Given the description of an element on the screen output the (x, y) to click on. 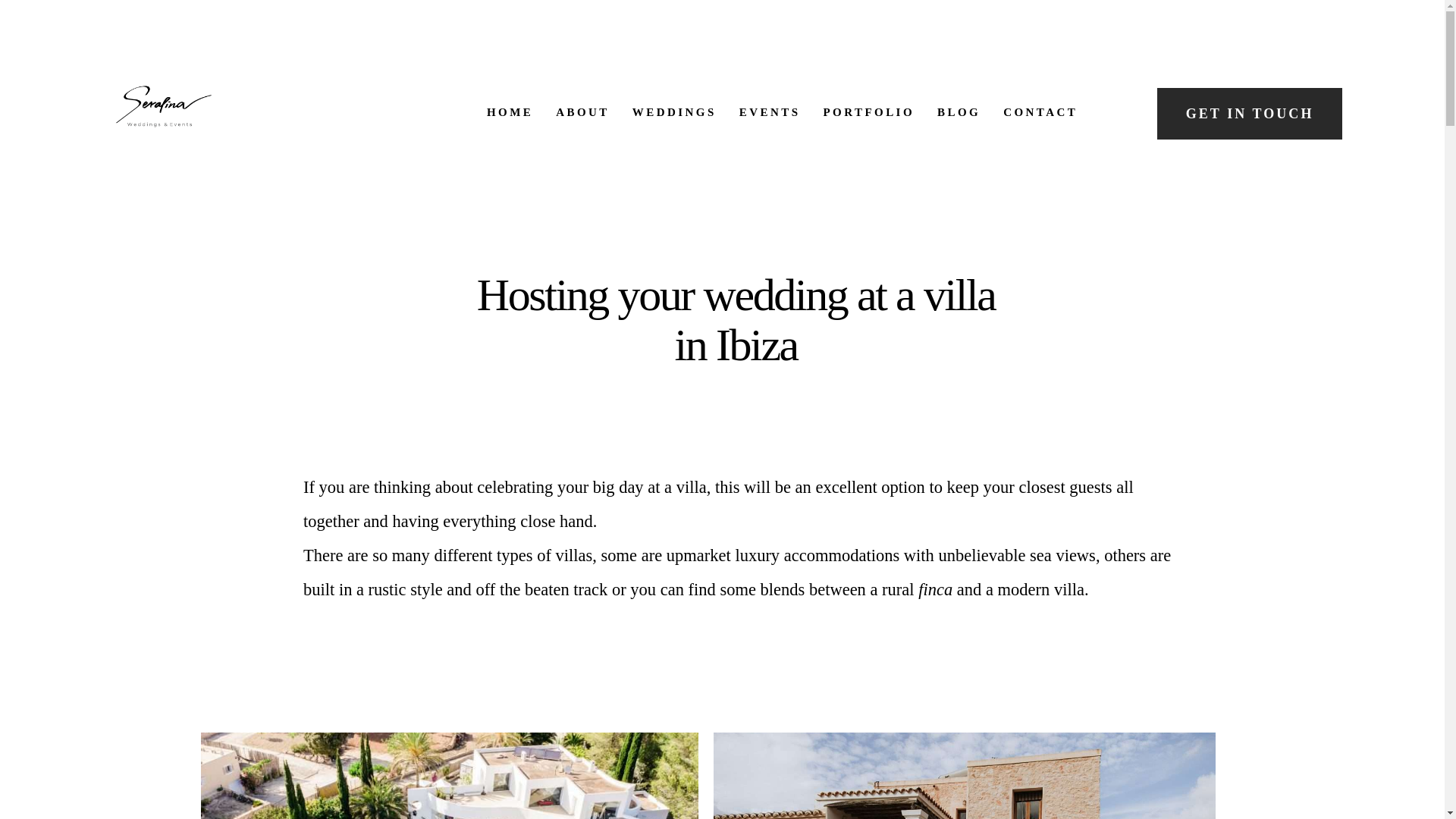
PORTFOLIO (868, 110)
EVENTS (769, 110)
CONTACT (1040, 110)
ABOUT (583, 110)
WEDDINGS (673, 110)
GET IN TOUCH (1249, 113)
HOME (509, 110)
BLOG (958, 110)
